Given the description of an element on the screen output the (x, y) to click on. 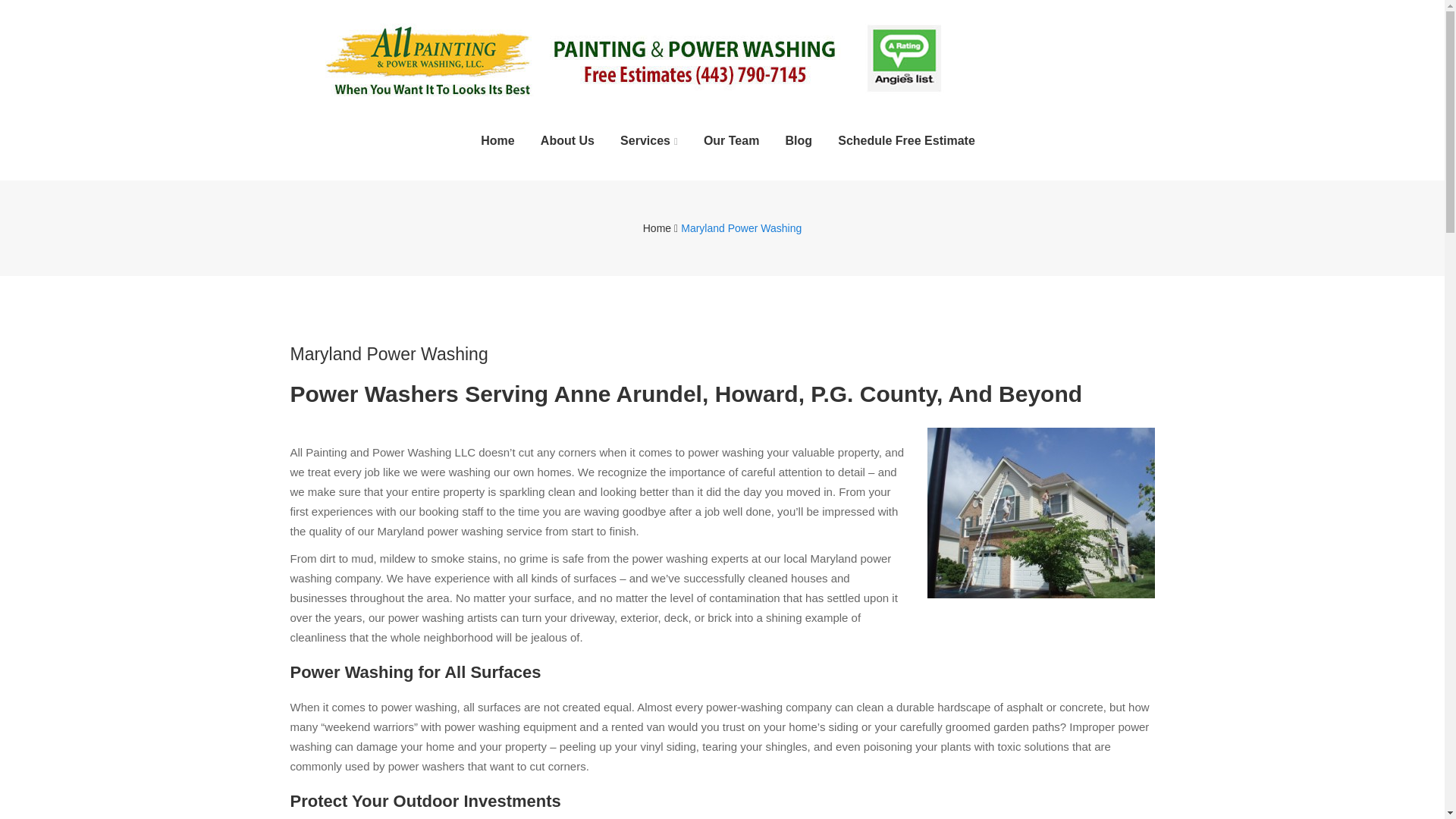
About Us (567, 140)
Severna Park House Painters Annapolis Power Washing (721, 56)
Services (649, 141)
Our Team (731, 140)
Home (657, 227)
Home (496, 140)
Blog (799, 140)
Schedule Free Estimate (906, 140)
